Given the description of an element on the screen output the (x, y) to click on. 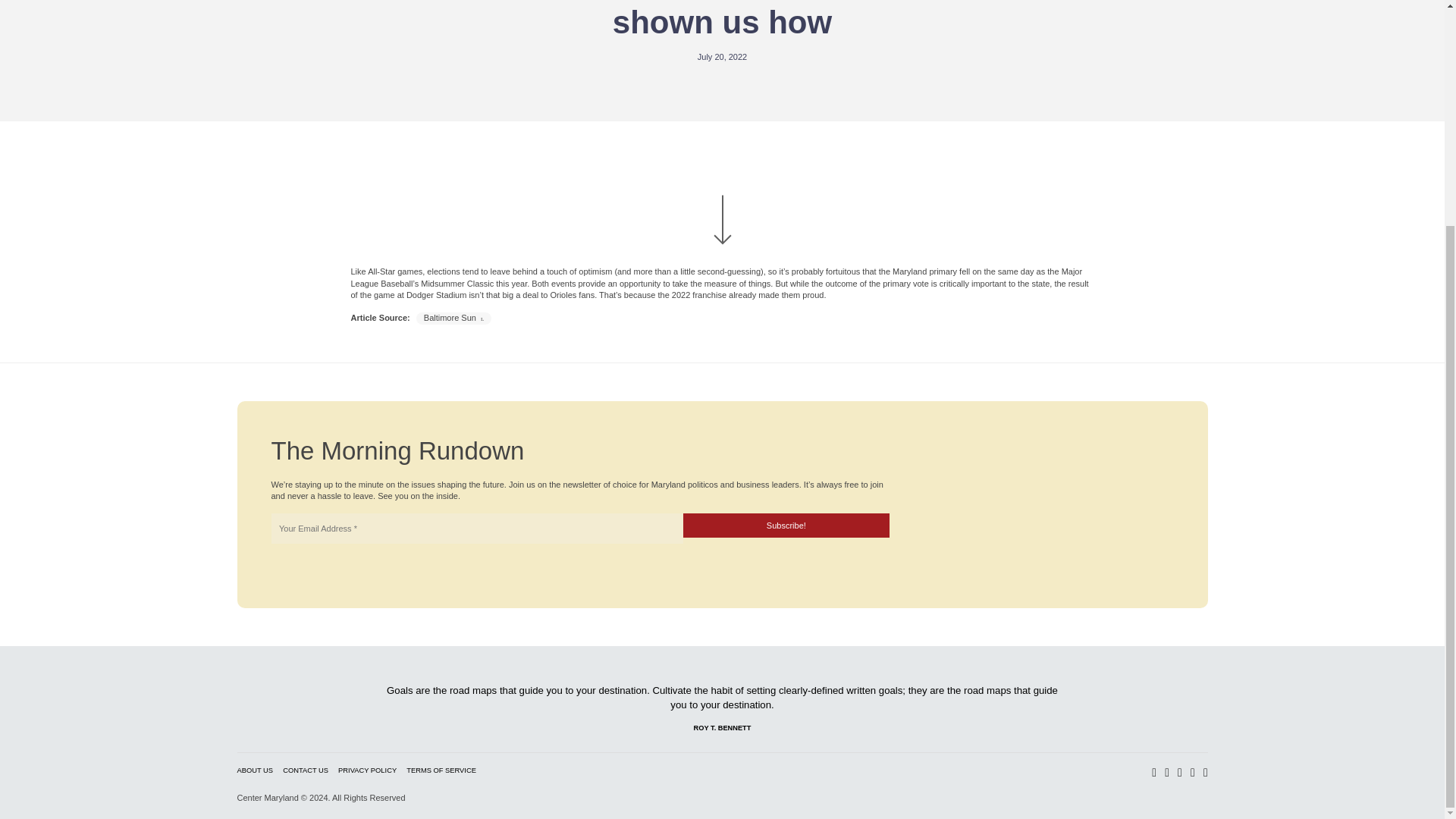
ABOUT US (254, 769)
Subscribe! (785, 525)
Subscribe! (785, 525)
TERMS OF SERVICE (441, 769)
Baltimore Sun (454, 317)
PRIVACY POLICY (366, 769)
Your Email Address (476, 528)
CONTACT US (305, 769)
